Given the description of an element on the screen output the (x, y) to click on. 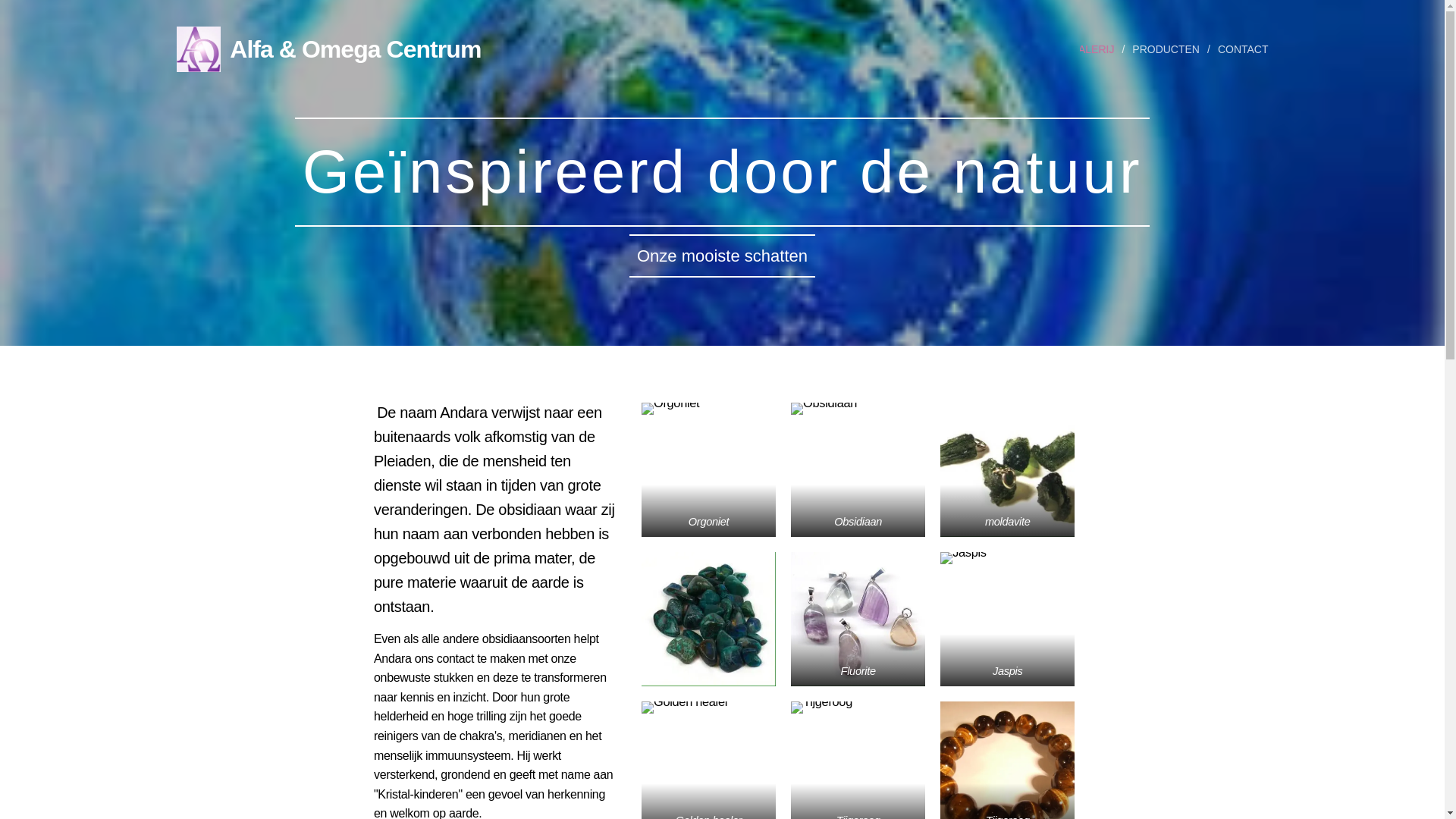
Jaspis Element type: text (1007, 619)
Obsidiaan Element type: text (857, 469)
moldavite Element type: text (1007, 469)
FOTOGALERIJ Element type: text (1078, 49)
Fluorite Element type: text (857, 619)
CONTACT Element type: text (1239, 49)
Orgoniet Element type: text (708, 469)
Alfa & Omega Centrum Element type: text (330, 49)
PRODUCTEN Element type: text (1167, 49)
